Given the description of an element on the screen output the (x, y) to click on. 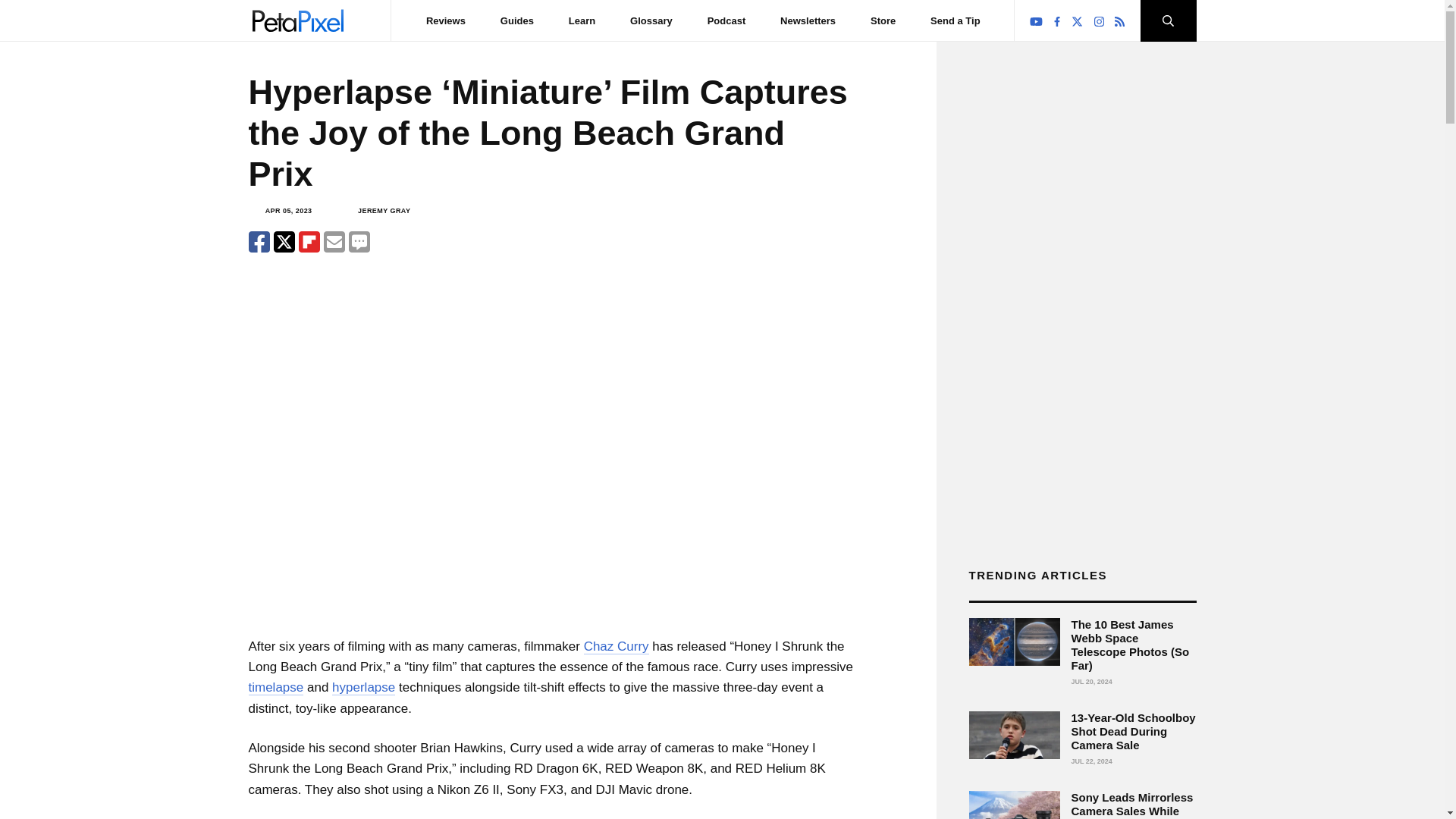
Glossary (651, 20)
Podcast (726, 20)
JEREMY GRAY (384, 210)
Follow PetaPixel on Instagram (1099, 20)
Learn (582, 20)
Chaz Curry (616, 646)
Share on Flipboard (309, 241)
Follow PetaPixel on Instagram (1098, 21)
Follow PetaPixel on YouTube (1036, 20)
Share on X (283, 241)
Follow PetaPixel on Facebook (1056, 21)
Reviews (445, 20)
Share on facebook (258, 241)
Send a Tip (954, 20)
Follow PetaPixel on YouTube (1035, 21)
